Given the description of an element on the screen output the (x, y) to click on. 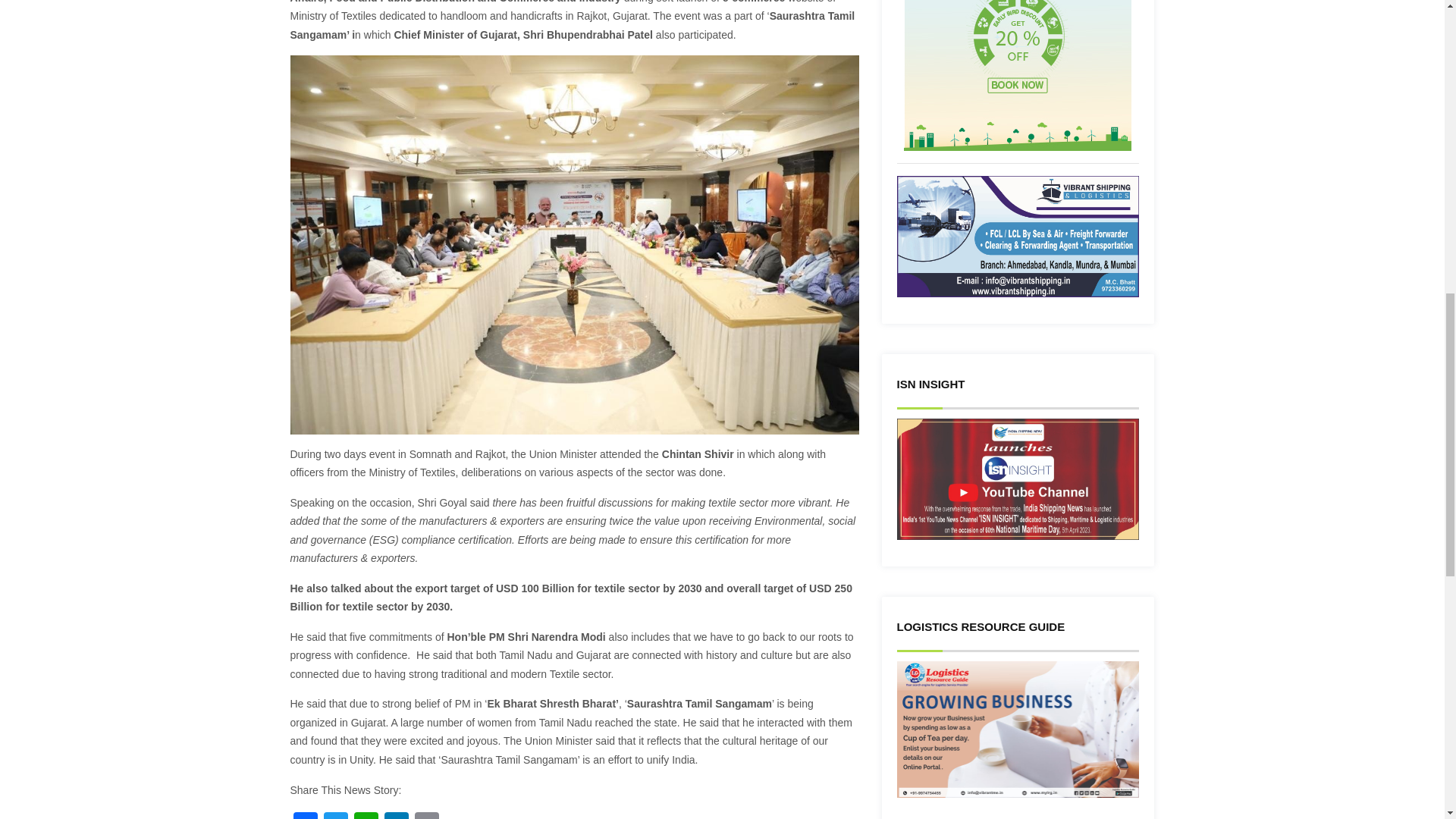
LinkedIn (395, 815)
Facebook (304, 815)
WhatsApp (365, 815)
Email (425, 815)
Twitter (335, 815)
